Given the description of an element on the screen output the (x, y) to click on. 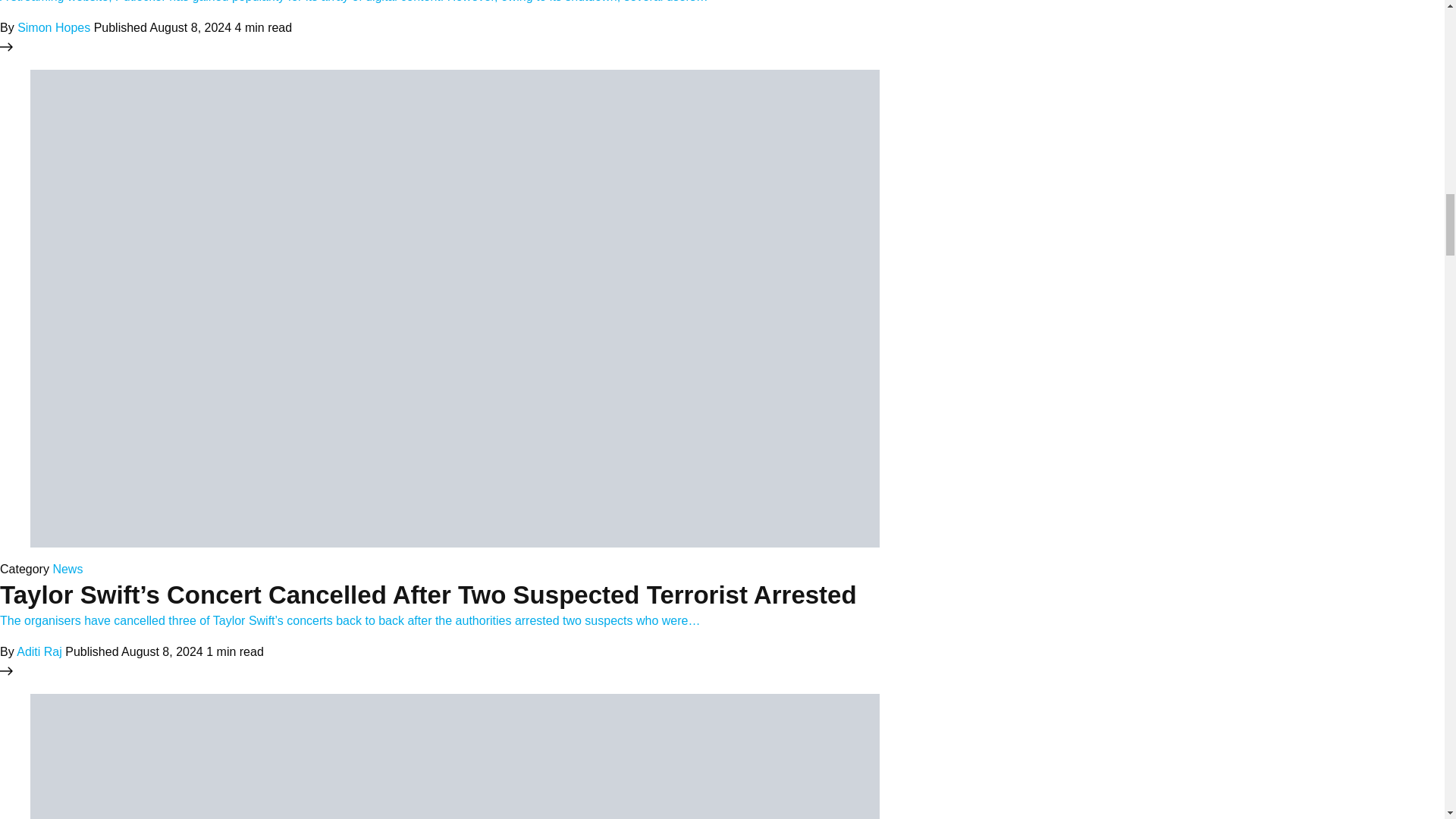
Simon Hopes (53, 27)
Aditi Raj (39, 651)
News (67, 568)
